Given the description of an element on the screen output the (x, y) to click on. 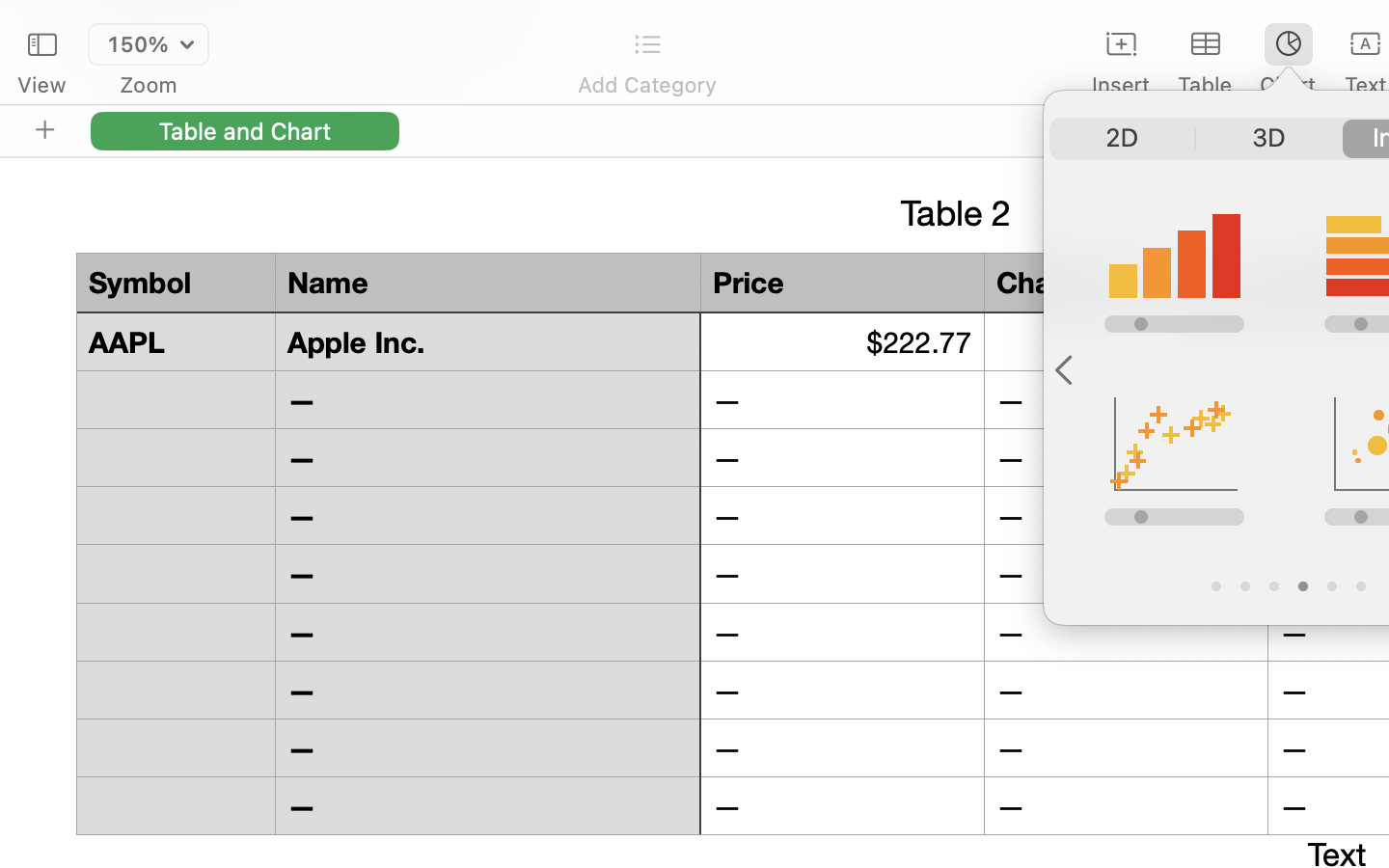
Table and Chart Element type: AXStaticText (244, 129)
Untitled Element type: AXStaticText (1334, 24)
Insert Element type: AXStaticText (1120, 84)
Add Category Element type: AXStaticText (646, 84)
